Given the description of an element on the screen output the (x, y) to click on. 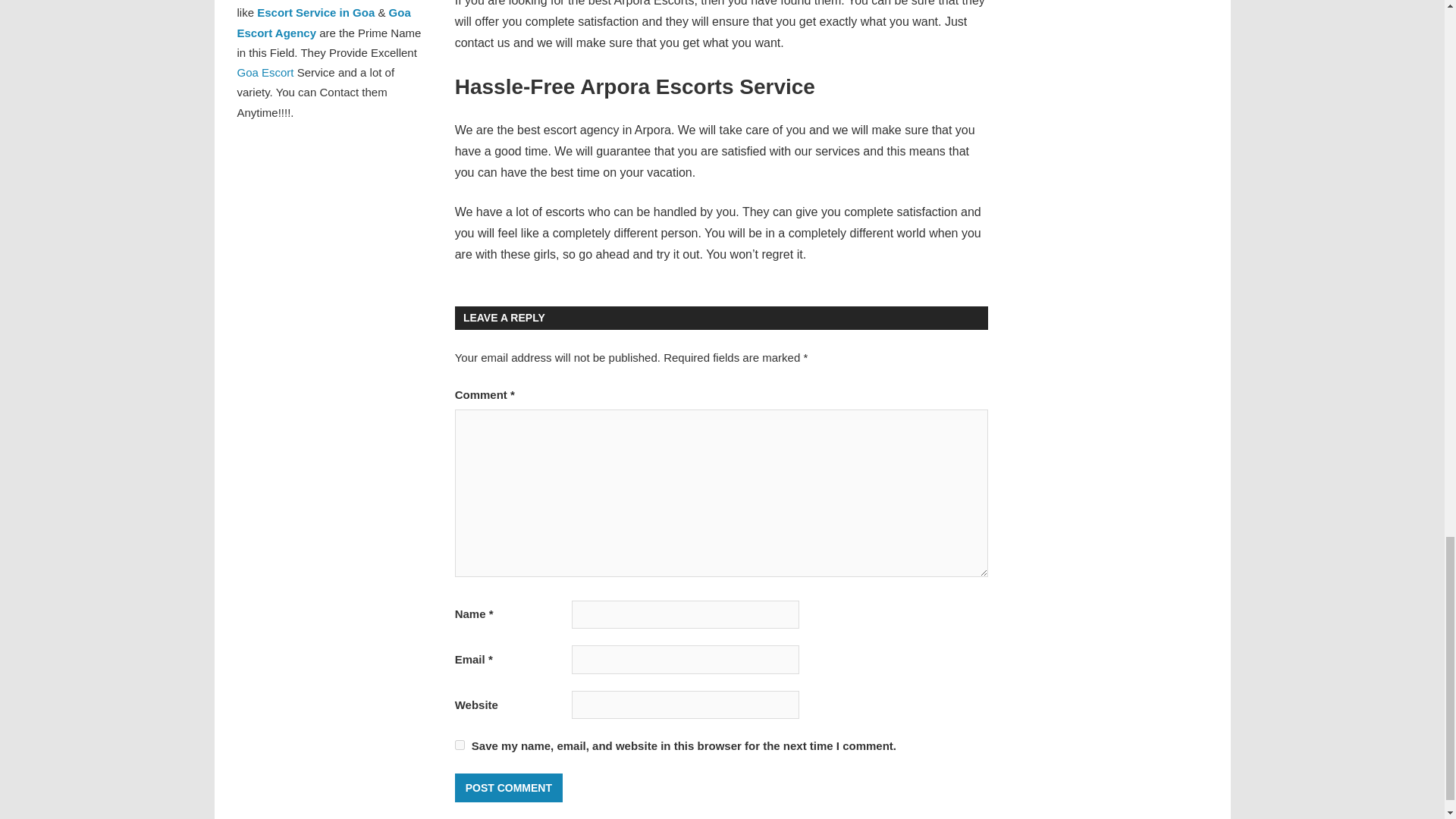
Post Comment (508, 788)
yes (459, 745)
Post Comment (508, 788)
